Given the description of an element on the screen output the (x, y) to click on. 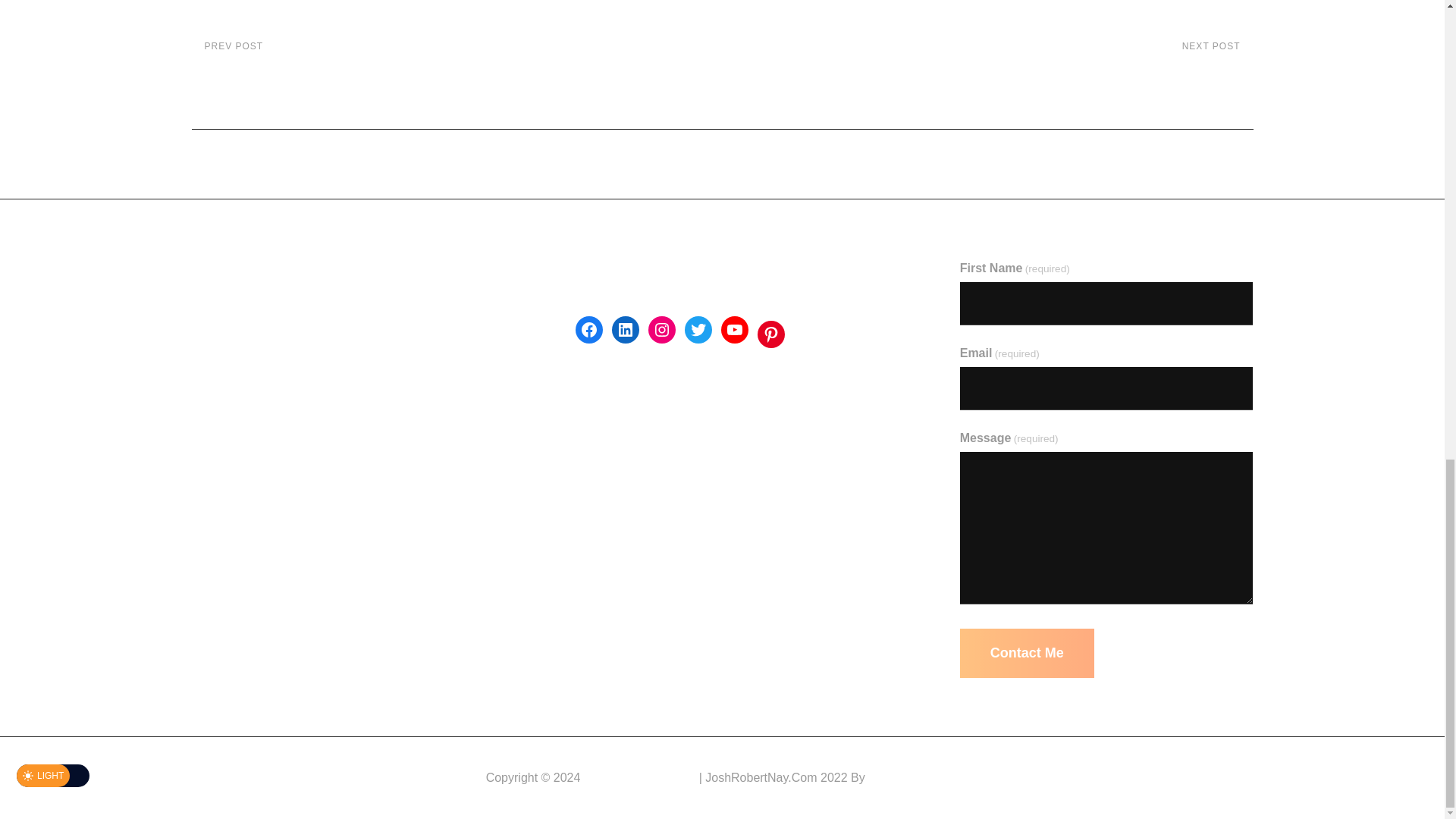
Frequently Asked Questions (205, 436)
Shop (204, 469)
Short Stories (225, 369)
Books (207, 336)
Articles (210, 302)
Why Josh Robert Nay? (252, 269)
Poetry (997, 62)
FAQs (207, 402)
